Given the description of an element on the screen output the (x, y) to click on. 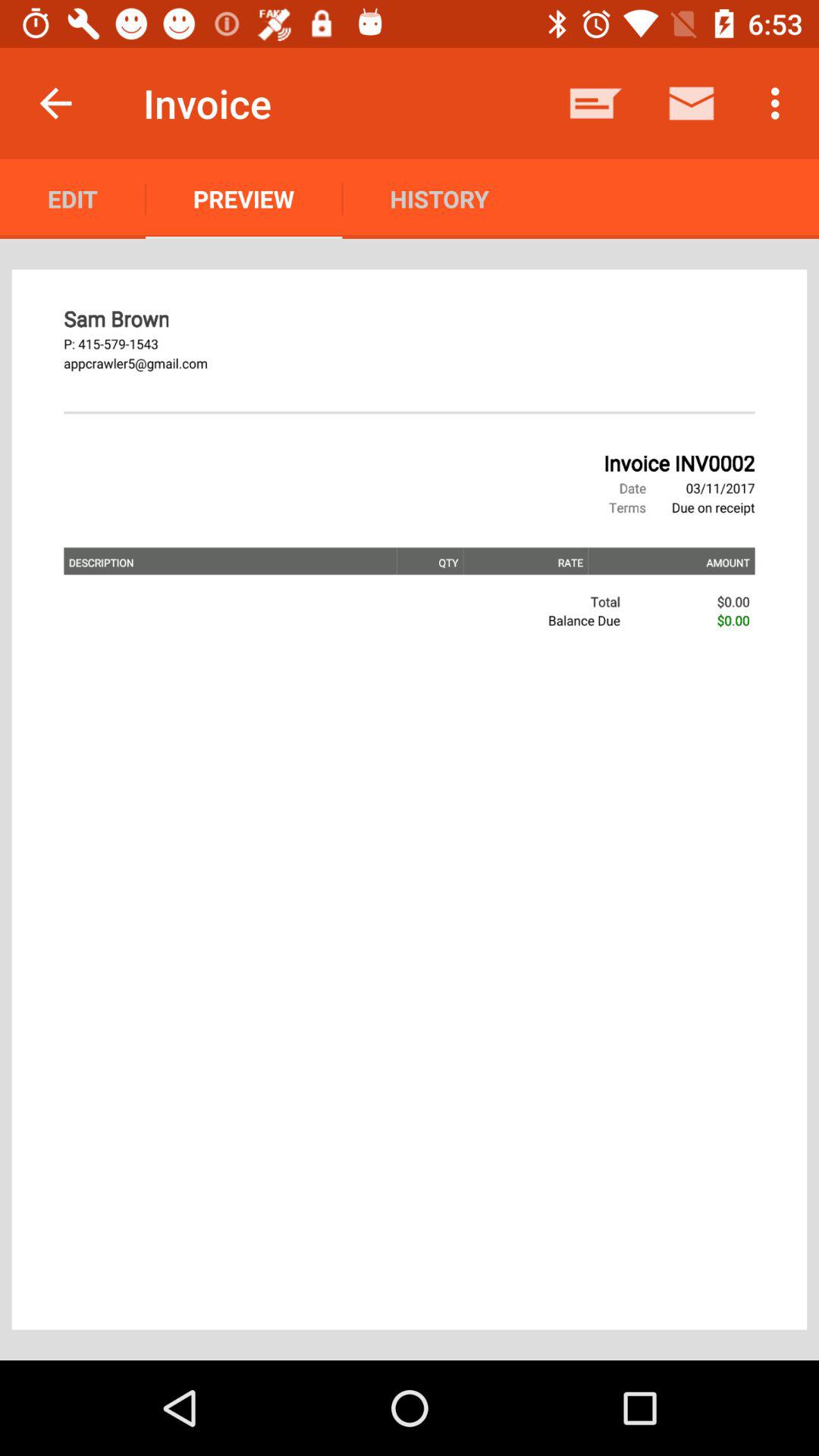
press app next to the preview item (439, 198)
